Given the description of an element on the screen output the (x, y) to click on. 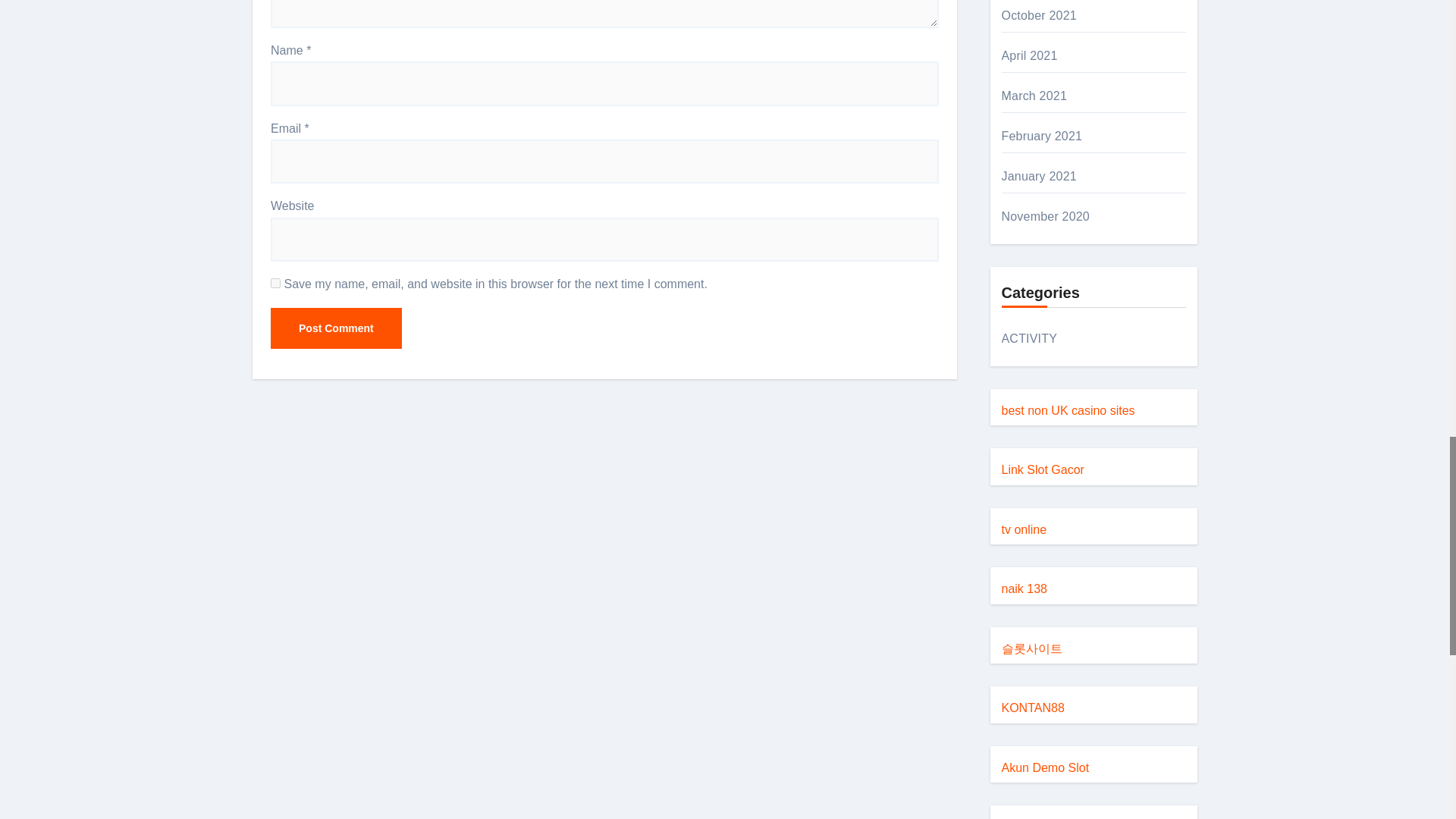
yes (275, 283)
Post Comment (335, 327)
